Given the description of an element on the screen output the (x, y) to click on. 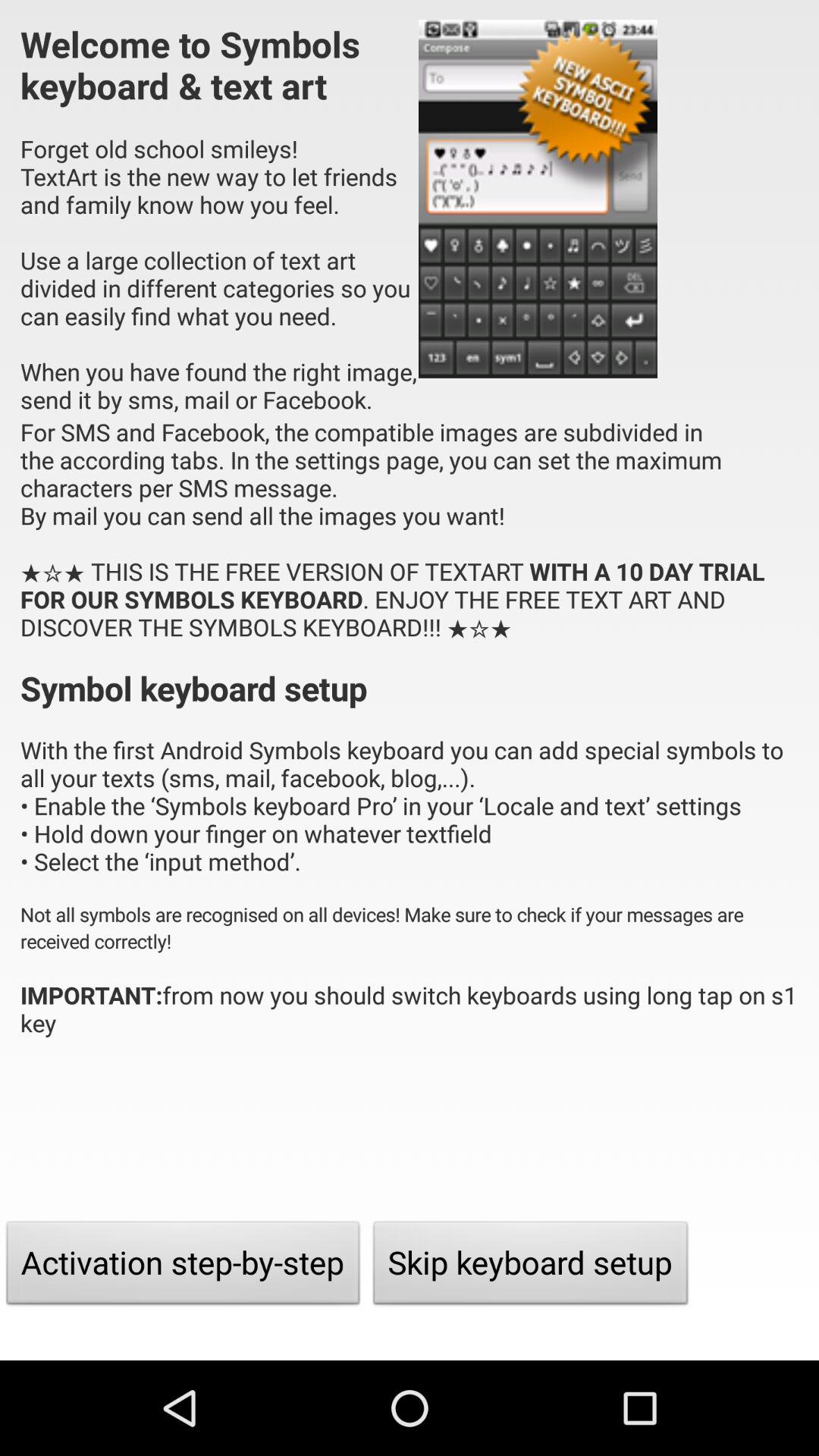
choose button next to the activation step by item (530, 1266)
